Given the description of an element on the screen output the (x, y) to click on. 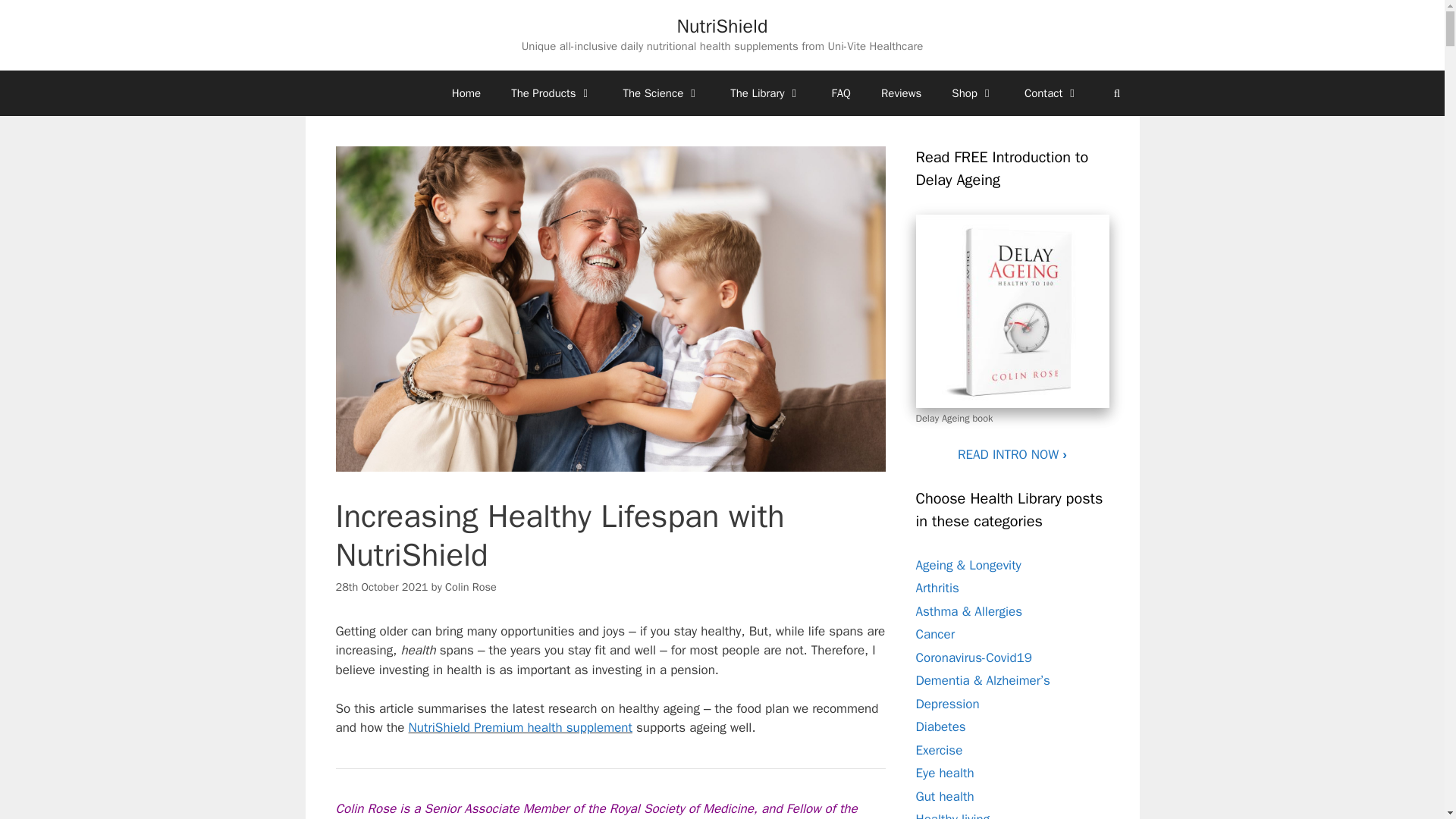
Reviews (901, 92)
View all posts by Colin Rose (470, 586)
FAQ (841, 92)
The Products (551, 92)
Shop (972, 92)
Home (466, 92)
The Library (764, 92)
NutriShield (722, 25)
The Science (662, 92)
